Given the description of an element on the screen output the (x, y) to click on. 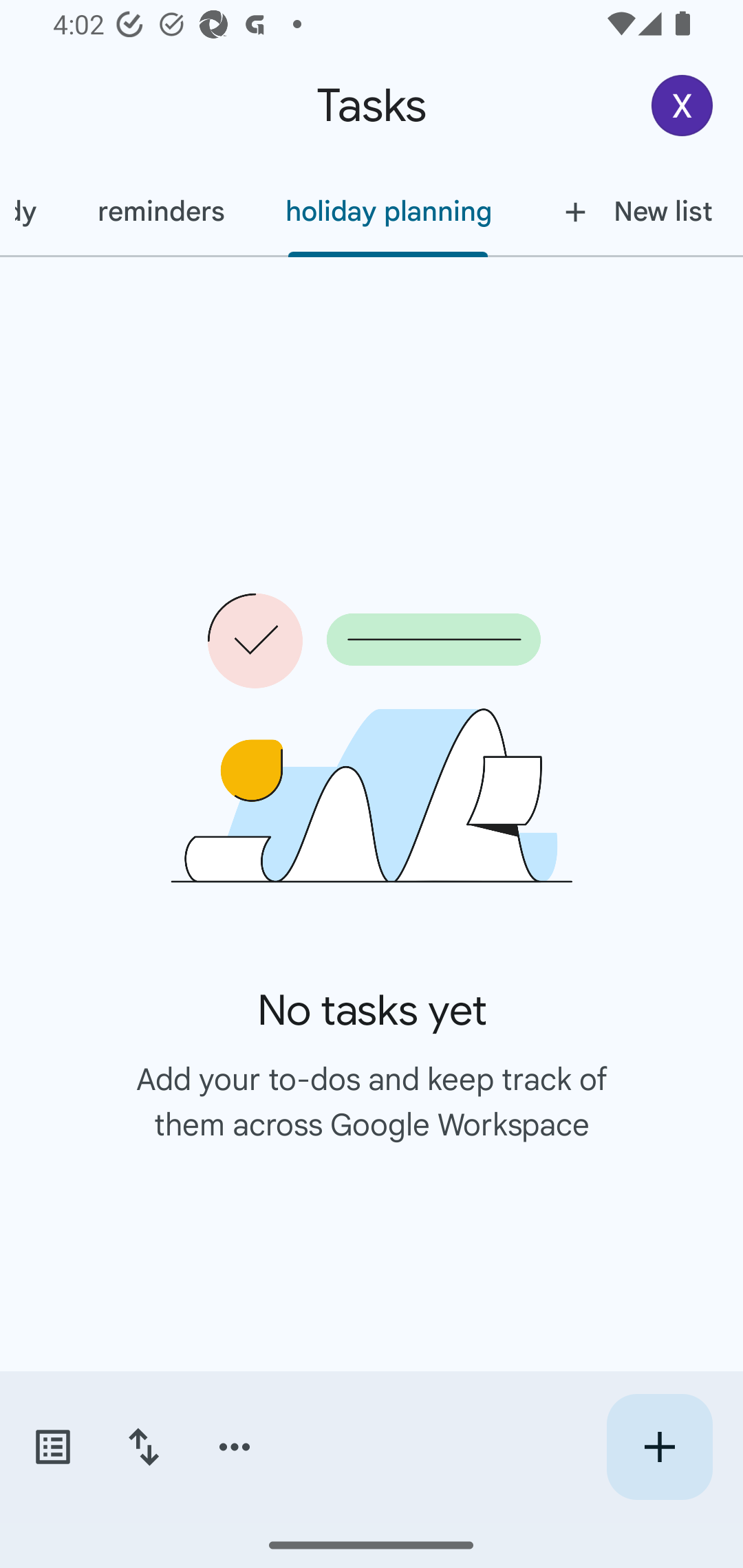
reminders (160, 211)
New list (632, 211)
Switch task lists (52, 1447)
Create new task (659, 1446)
Change sort order (143, 1446)
More options (234, 1446)
